Given the description of an element on the screen output the (x, y) to click on. 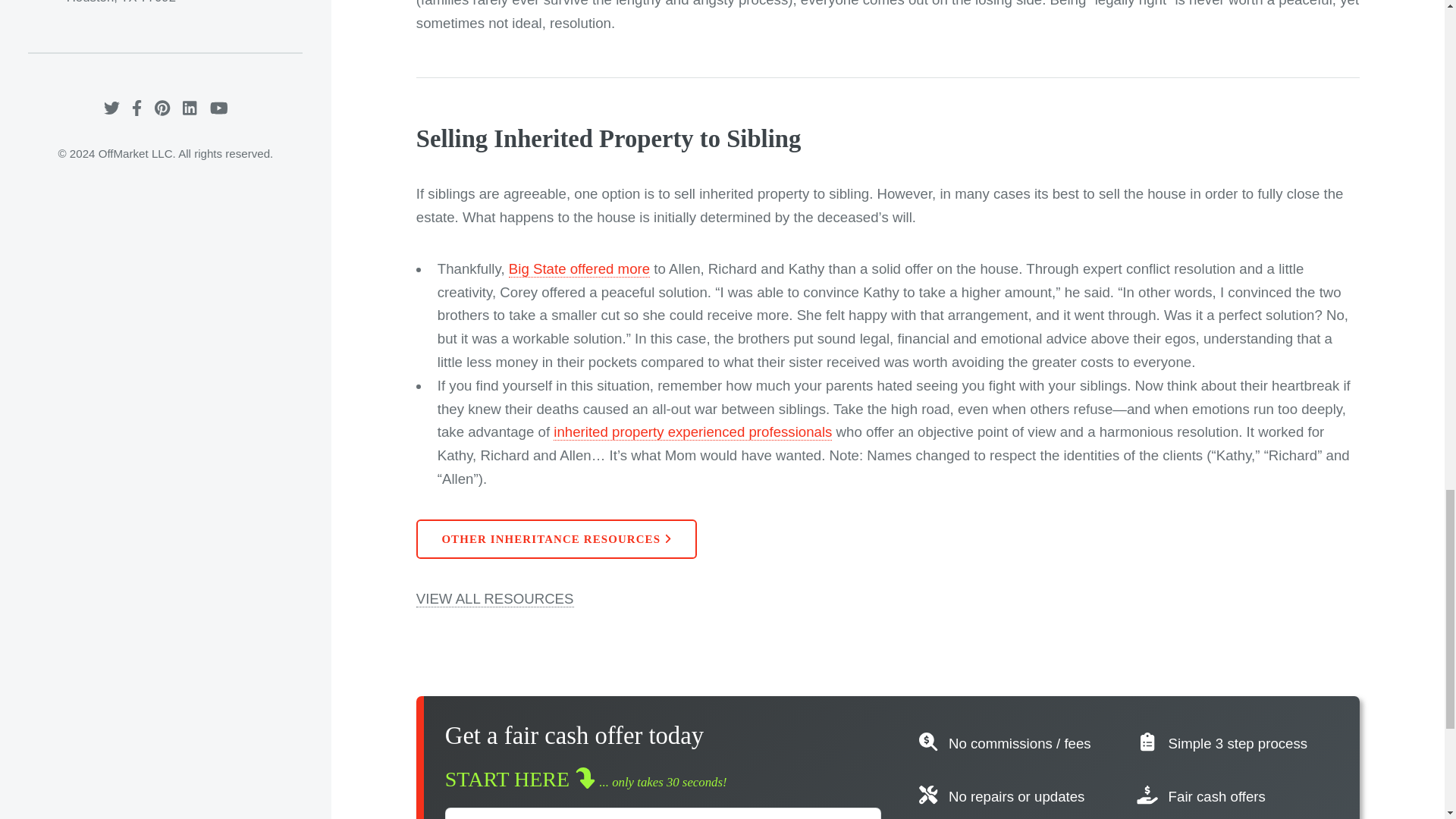
LinkedIn (189, 108)
Pinterest (162, 108)
YouTube (218, 108)
Pinterest (162, 107)
OTHER INHERITANCE RESOURCES (556, 538)
YouTube (218, 107)
Big State offered more (578, 269)
Twitter (111, 108)
Twitter (111, 107)
inherited property experienced professionals (692, 432)
VIEW ALL RESOURCES (494, 598)
